Given the description of an element on the screen output the (x, y) to click on. 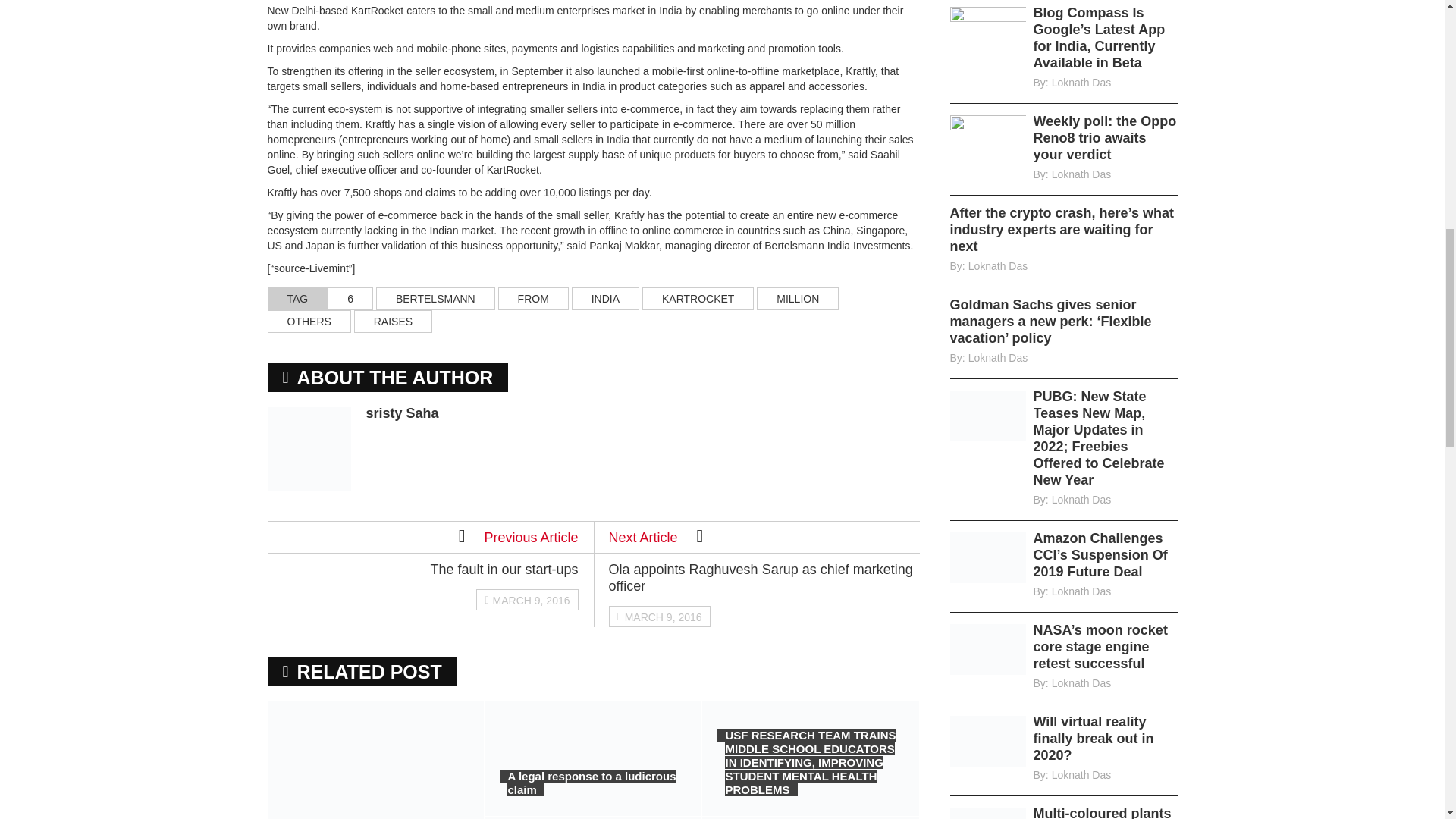
Posts by Loknath Das (1081, 82)
BERTELSMANN (435, 298)
KARTROCKET (698, 298)
Posts by Loknath Das (997, 265)
OTHERS (308, 321)
6 (349, 298)
Posts by Loknath Das (1081, 499)
FROM (533, 298)
Posts by Loknath Das (997, 357)
INDIA (605, 298)
Posts by Loknath Das (1081, 174)
RAISES (392, 321)
Posts by sristy Saha (401, 412)
MILLION (797, 298)
sristy Saha (401, 412)
